Given the description of an element on the screen output the (x, y) to click on. 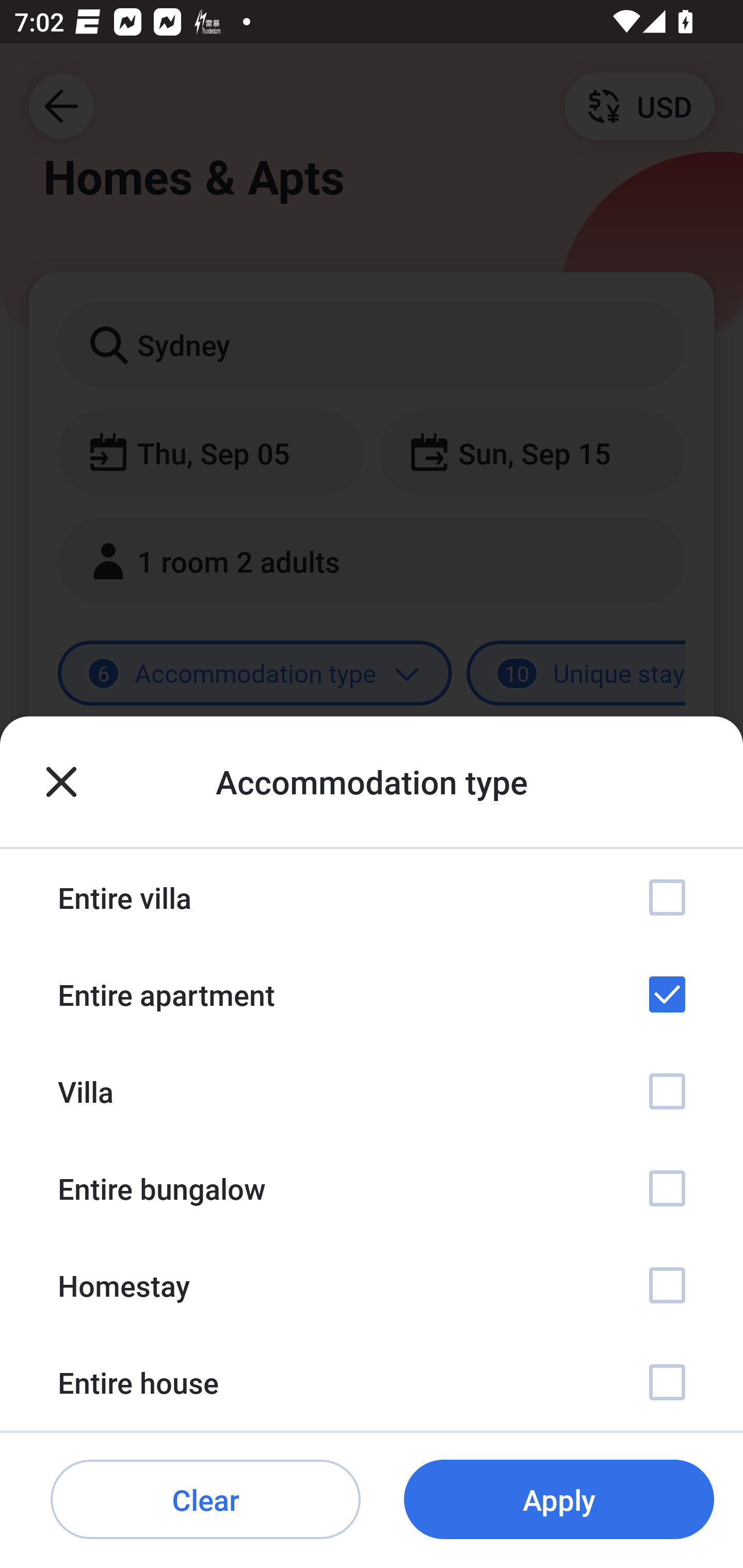
Entire villa (371, 897)
Entire apartment (371, 994)
Villa (371, 1091)
Entire bungalow (371, 1188)
Homestay (371, 1284)
Entire house (371, 1382)
Clear (205, 1499)
Apply (559, 1499)
